Given the description of an element on the screen output the (x, y) to click on. 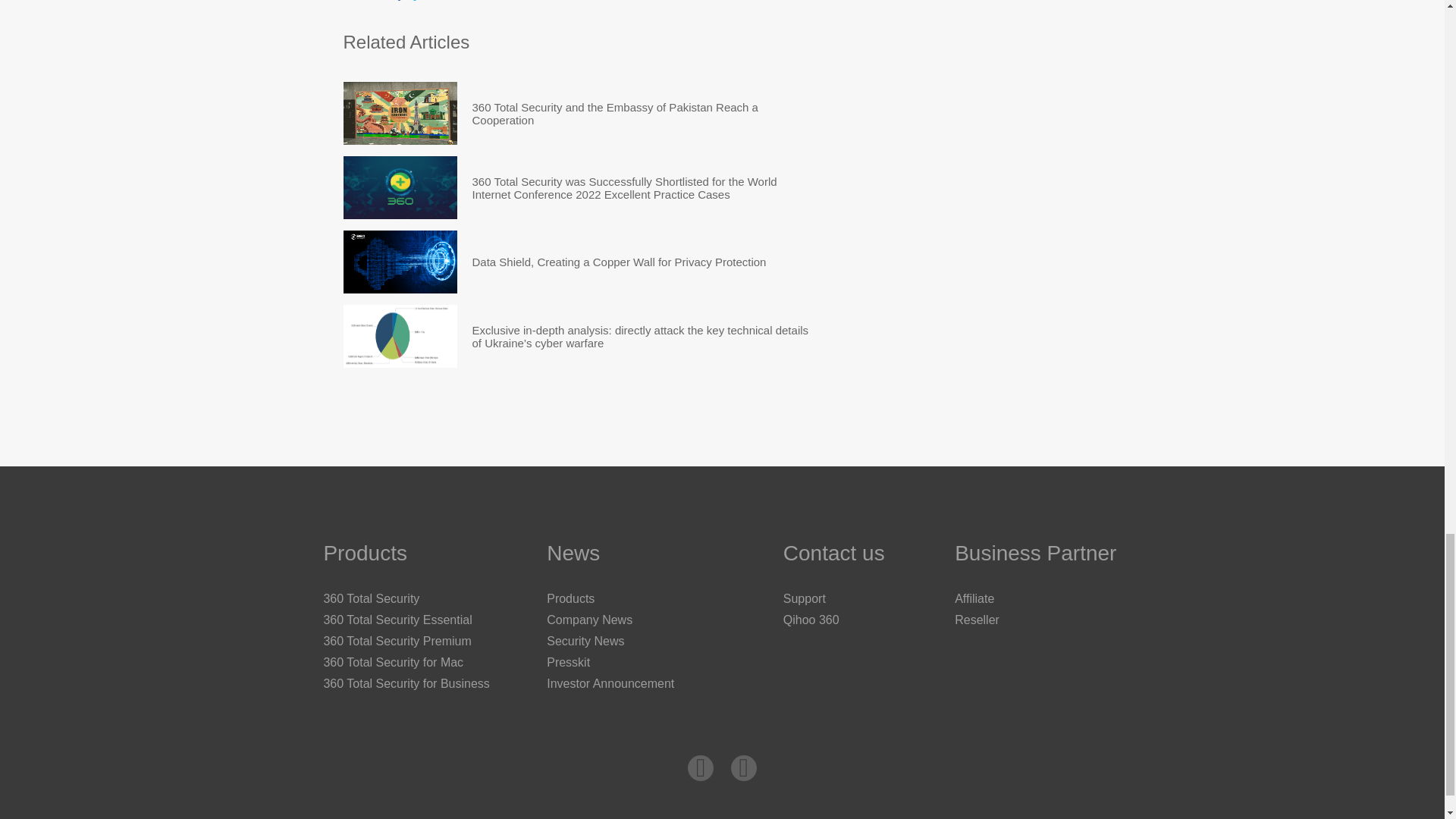
Data Shield, Creating a Copper Wall for Privacy Protection (618, 261)
Data Shield, Creating a Copper Wall for Privacy Protection (618, 261)
Data Shield, Creating a Copper Wall for Privacy Protection (399, 261)
360 Total Security (371, 598)
